Given the description of an element on the screen output the (x, y) to click on. 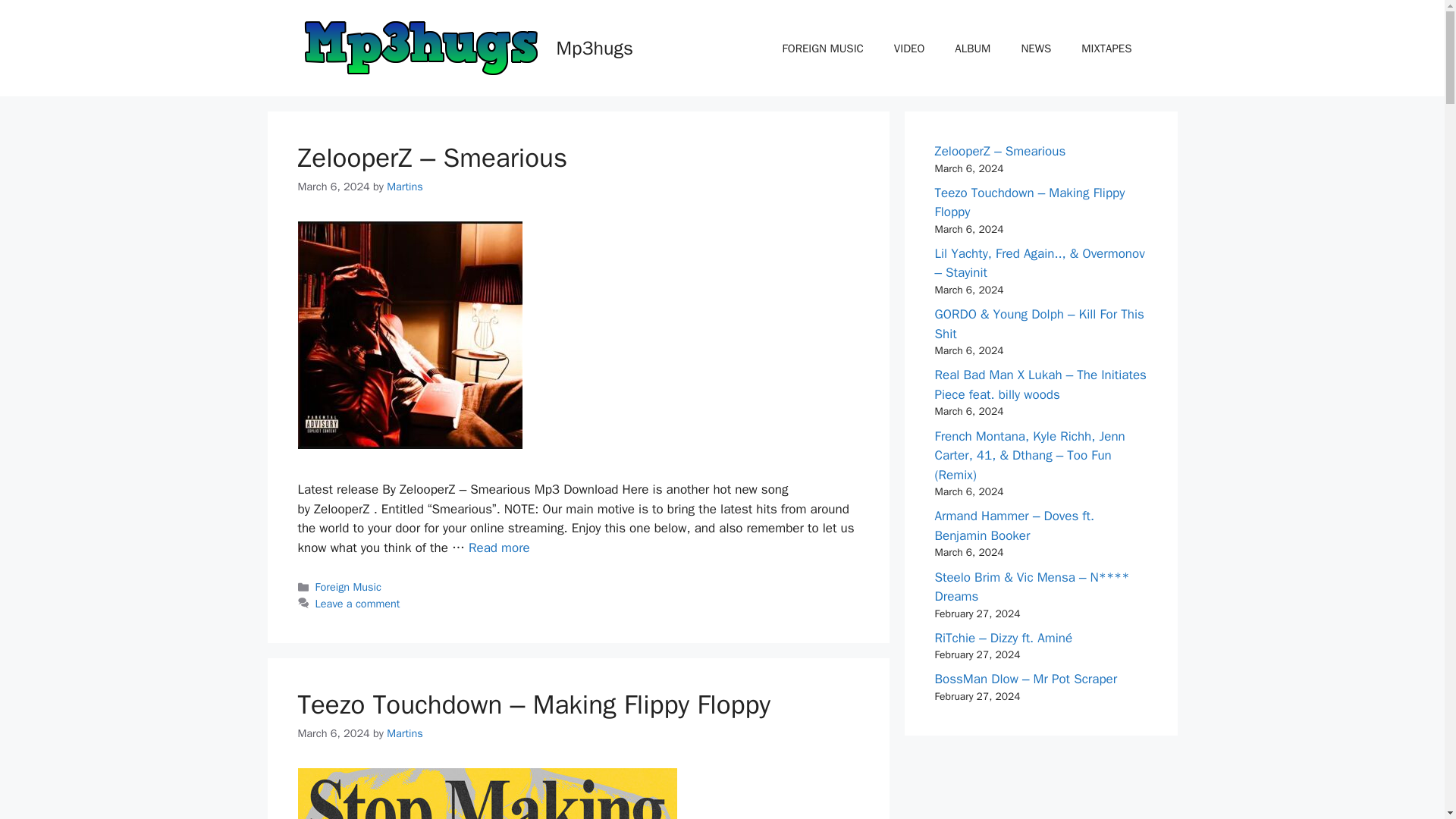
ALBUM (972, 48)
Read more (498, 547)
Leave a comment (357, 603)
View all posts by Martins (405, 186)
View all posts by Martins (405, 733)
Mp3hugs (594, 47)
Martins (405, 186)
MIXTAPES (1106, 48)
Martins (405, 733)
Foreign Music (348, 586)
FOREIGN MUSIC (823, 48)
VIDEO (909, 48)
NEWS (1035, 48)
